Given the description of an element on the screen output the (x, y) to click on. 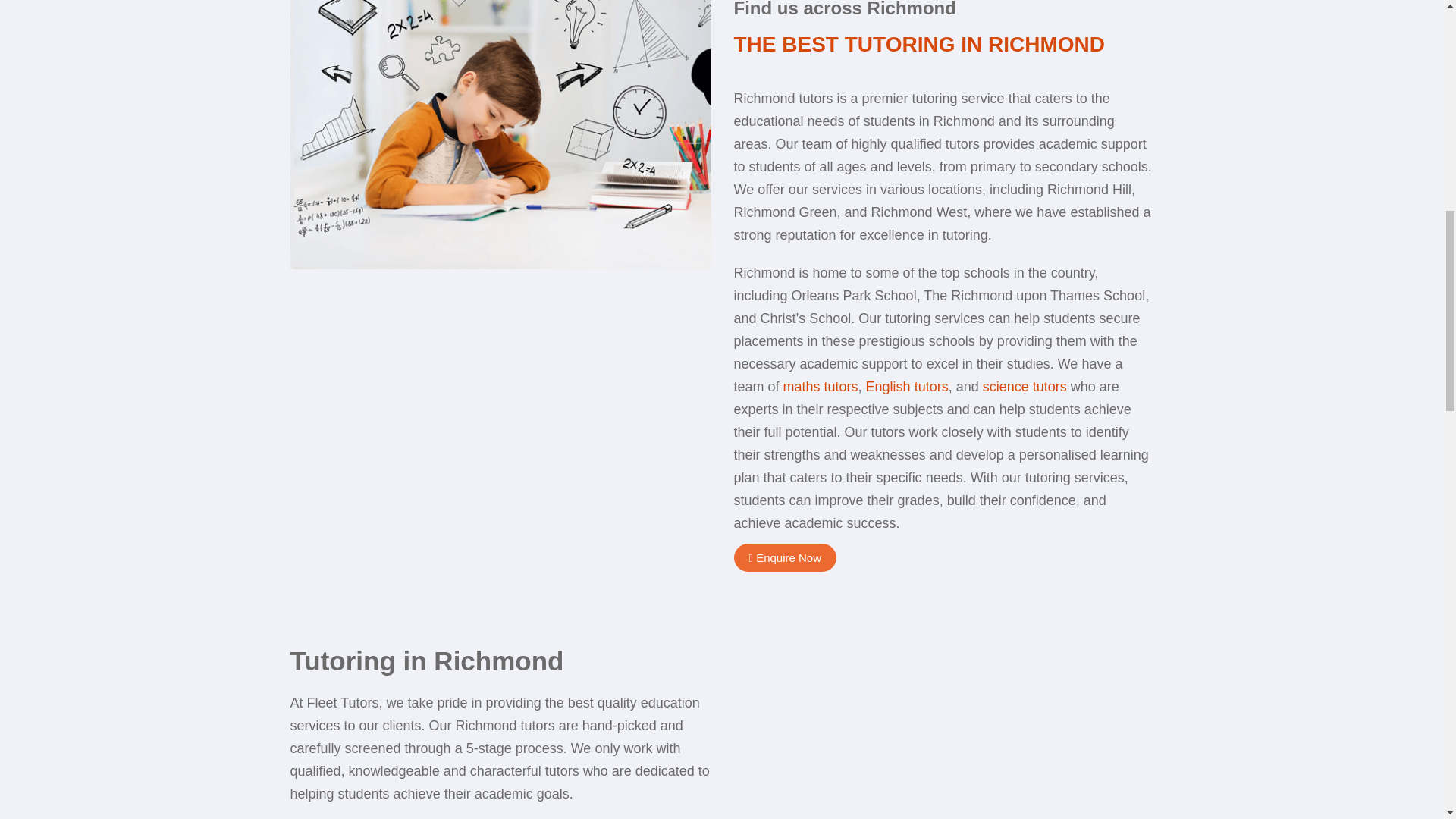
English Tutors (907, 386)
Science Tutors (1024, 386)
Maths Tutors (821, 386)
